Given the description of an element on the screen output the (x, y) to click on. 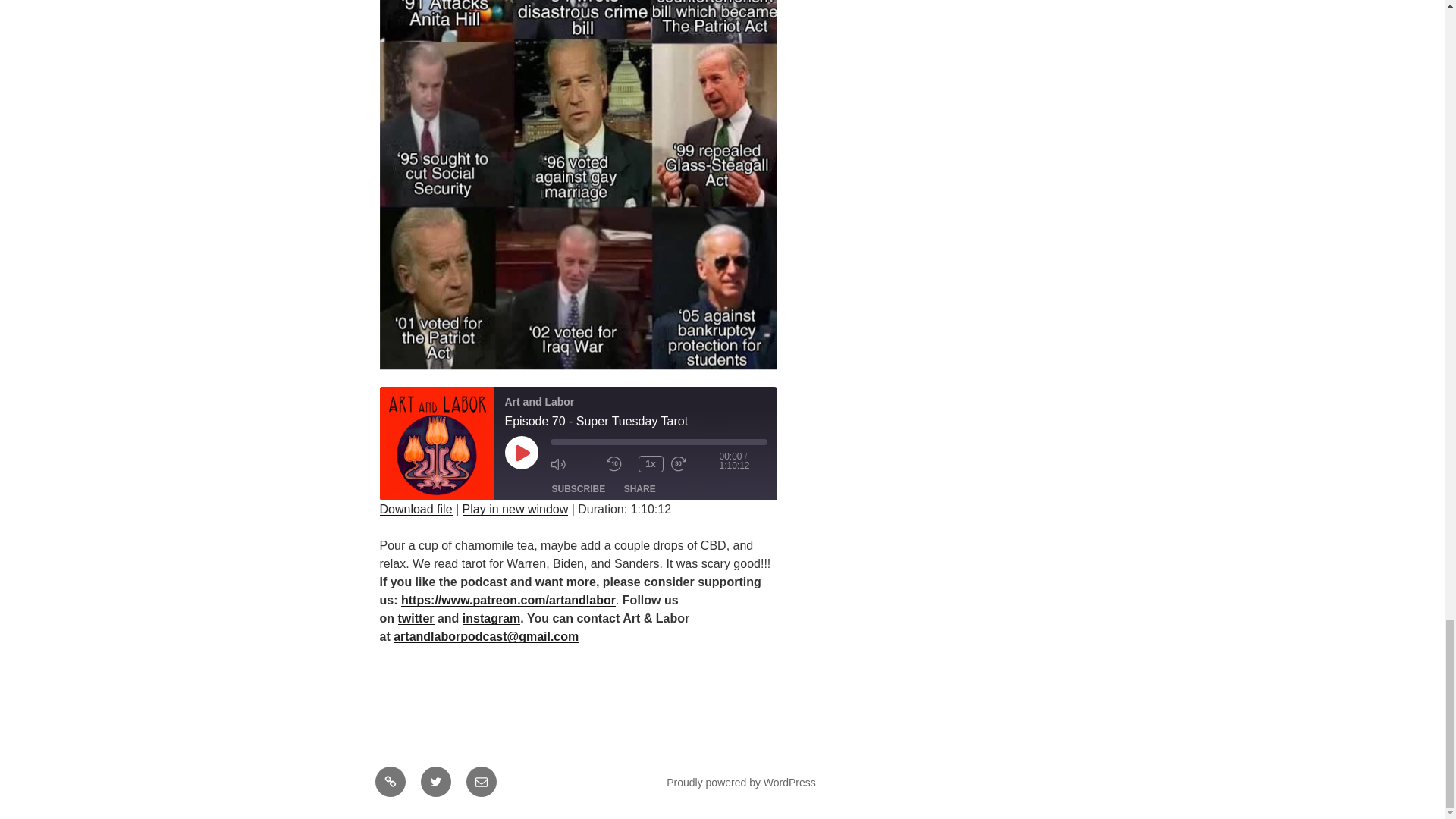
Play Episode (521, 452)
Fast Forward 30 seconds (694, 463)
Rewind 10 Seconds (618, 463)
SUBSCRIBE (578, 488)
1x (651, 463)
SHARE (639, 488)
